Given the description of an element on the screen output the (x, y) to click on. 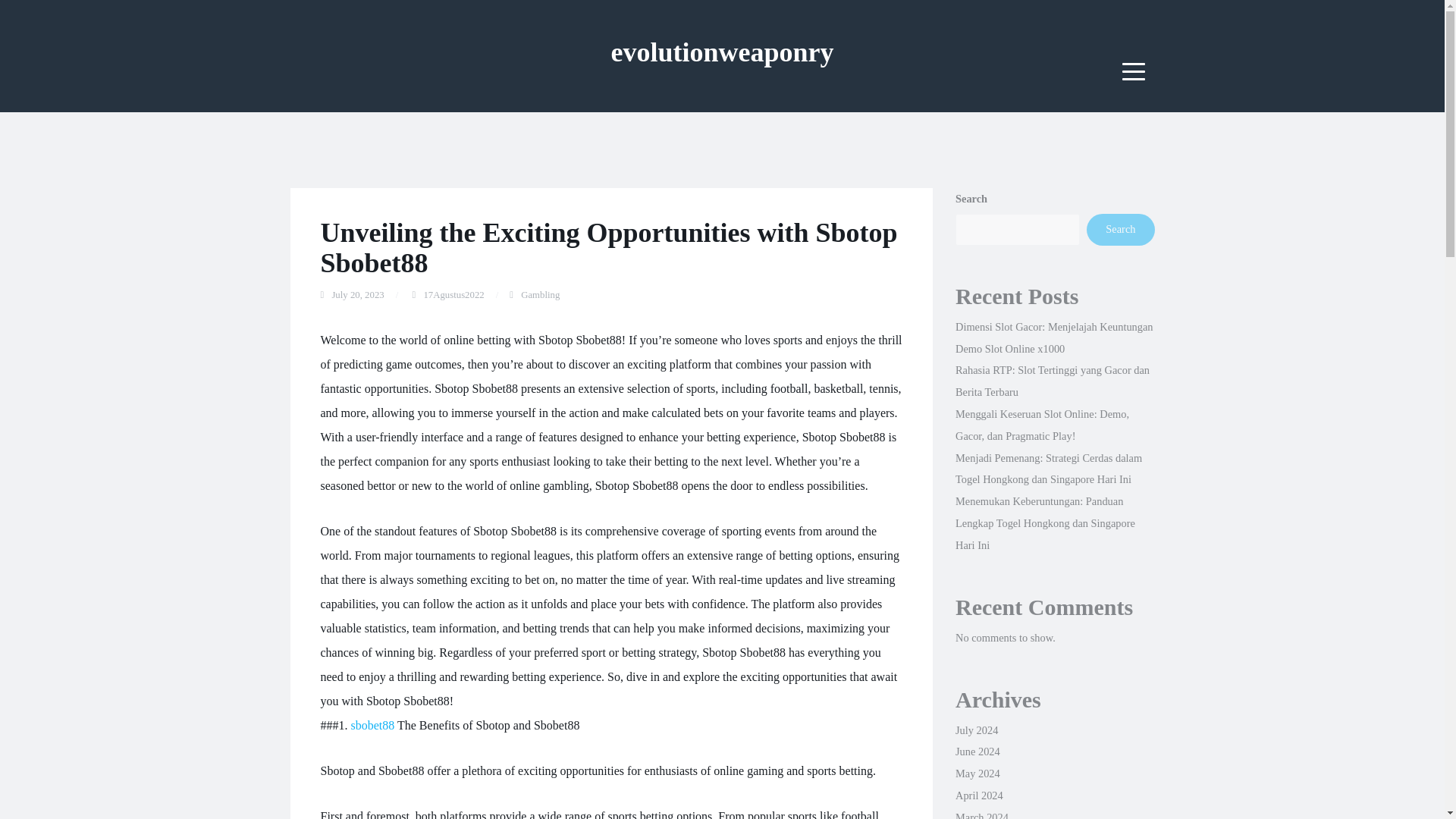
Gambling (540, 294)
17Agustus2022 (453, 294)
July 20, 2023 (357, 294)
Rahasia RTP: Slot Tertinggi yang Gacor dan Berita Terbaru (1052, 380)
July 2024 (976, 729)
June 2024 (977, 751)
April 2024 (979, 795)
Search (1120, 229)
May 2024 (977, 773)
sbobet88 (372, 725)
March 2024 (982, 815)
Menu (1133, 71)
